Given the description of an element on the screen output the (x, y) to click on. 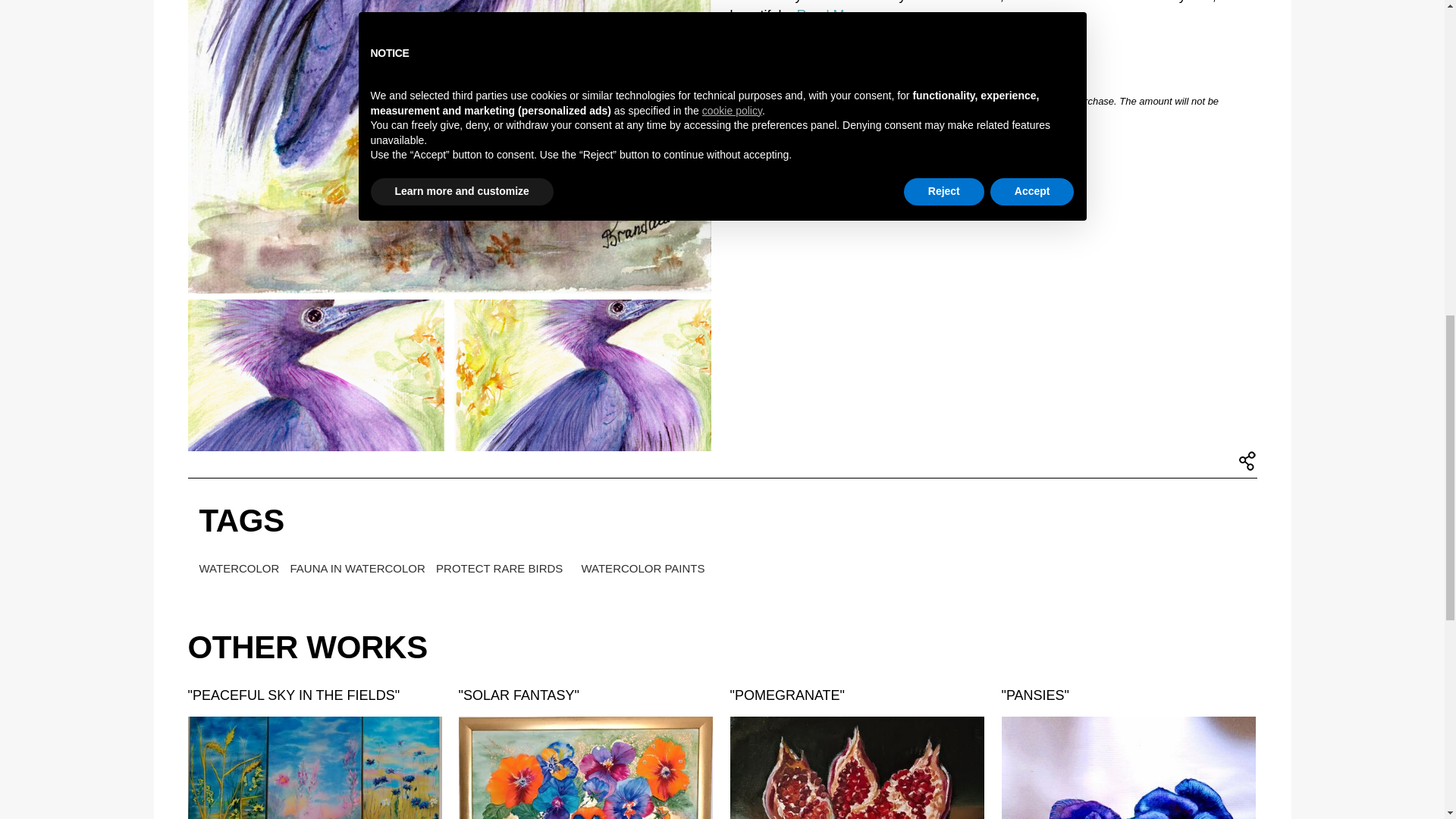
All Arts - Tag: fauna in watercolor Paint (359, 567)
All Arts - Tag:  watercolor Paint (240, 567)
All Arts - Tag: protect rare birds Paint (500, 567)
